Given the description of an element on the screen output the (x, y) to click on. 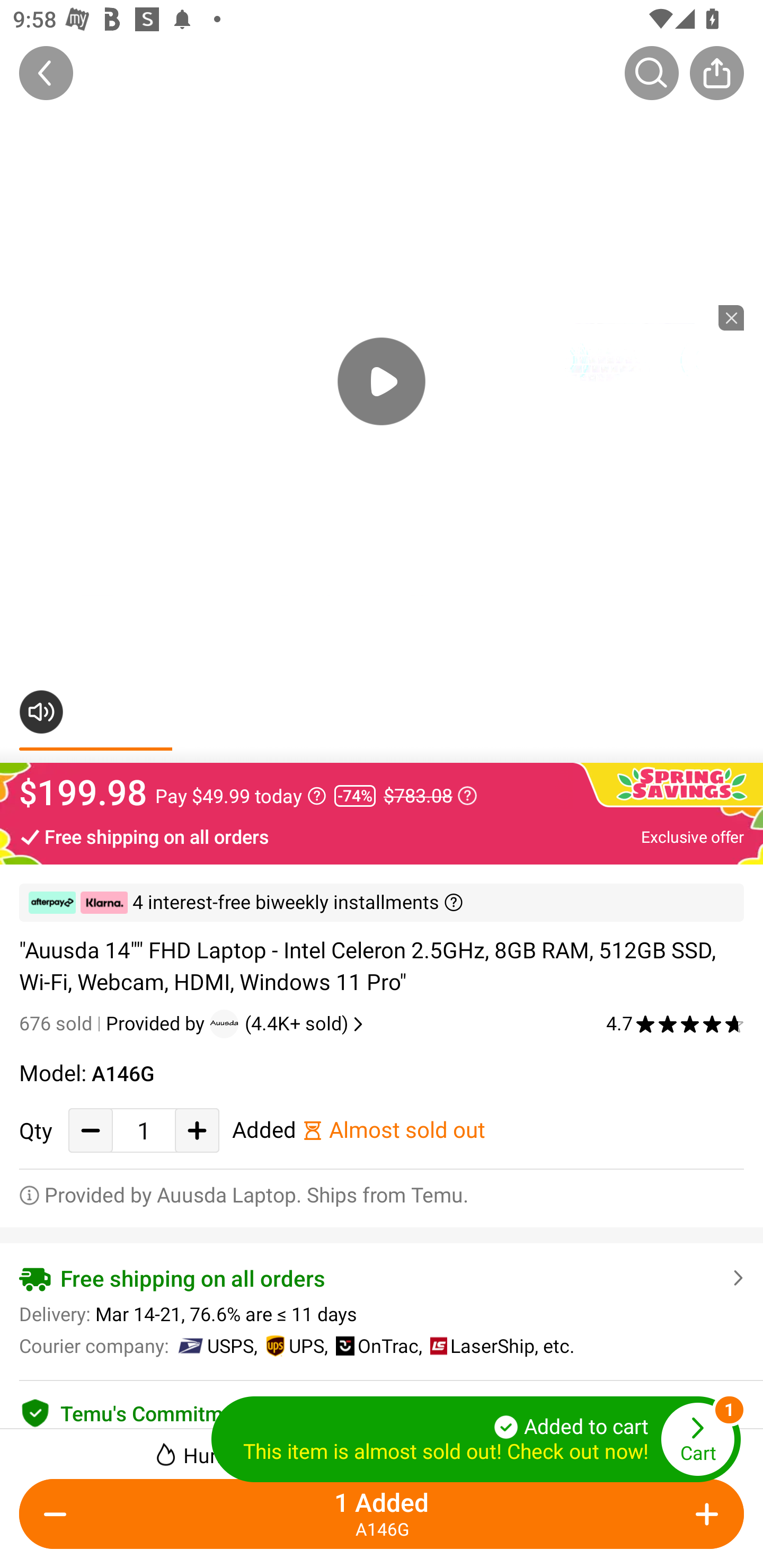
Back (46, 72)
Share (716, 72)
Pay $49.99 today   (240, 795)
Free shipping on all orders Exclusive offer (381, 836)
￼ ￼ 4 interest-free biweekly installments ￼ (381, 902)
4.7 (674, 1023)
Decrease Quantity Button (90, 1130)
1 (143, 1130)
Add Quantity button (196, 1130)
Decrease Quantity Button (59, 1513)
Add Quantity button (703, 1513)
